Given the description of an element on the screen output the (x, y) to click on. 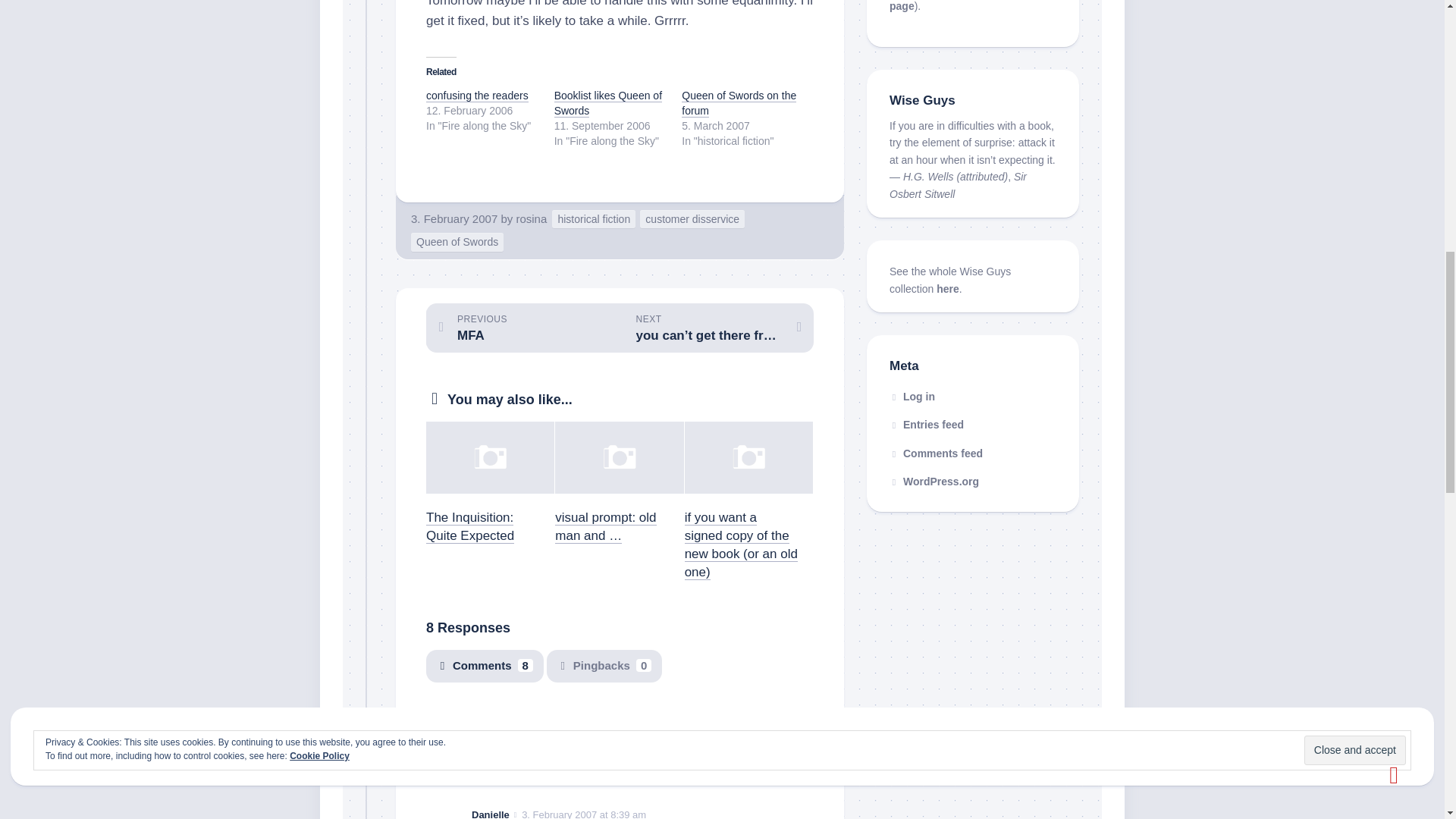
The Inquisition: Quite Expected (469, 526)
confusing the readers (523, 327)
Comments8 (477, 95)
3. February 2007 at 7:25 am (484, 666)
Queen of Swords (580, 715)
Queen of Swords on the forum (456, 241)
customer disservice (738, 103)
rosina (692, 219)
confusing the readers (531, 218)
